Given the description of an element on the screen output the (x, y) to click on. 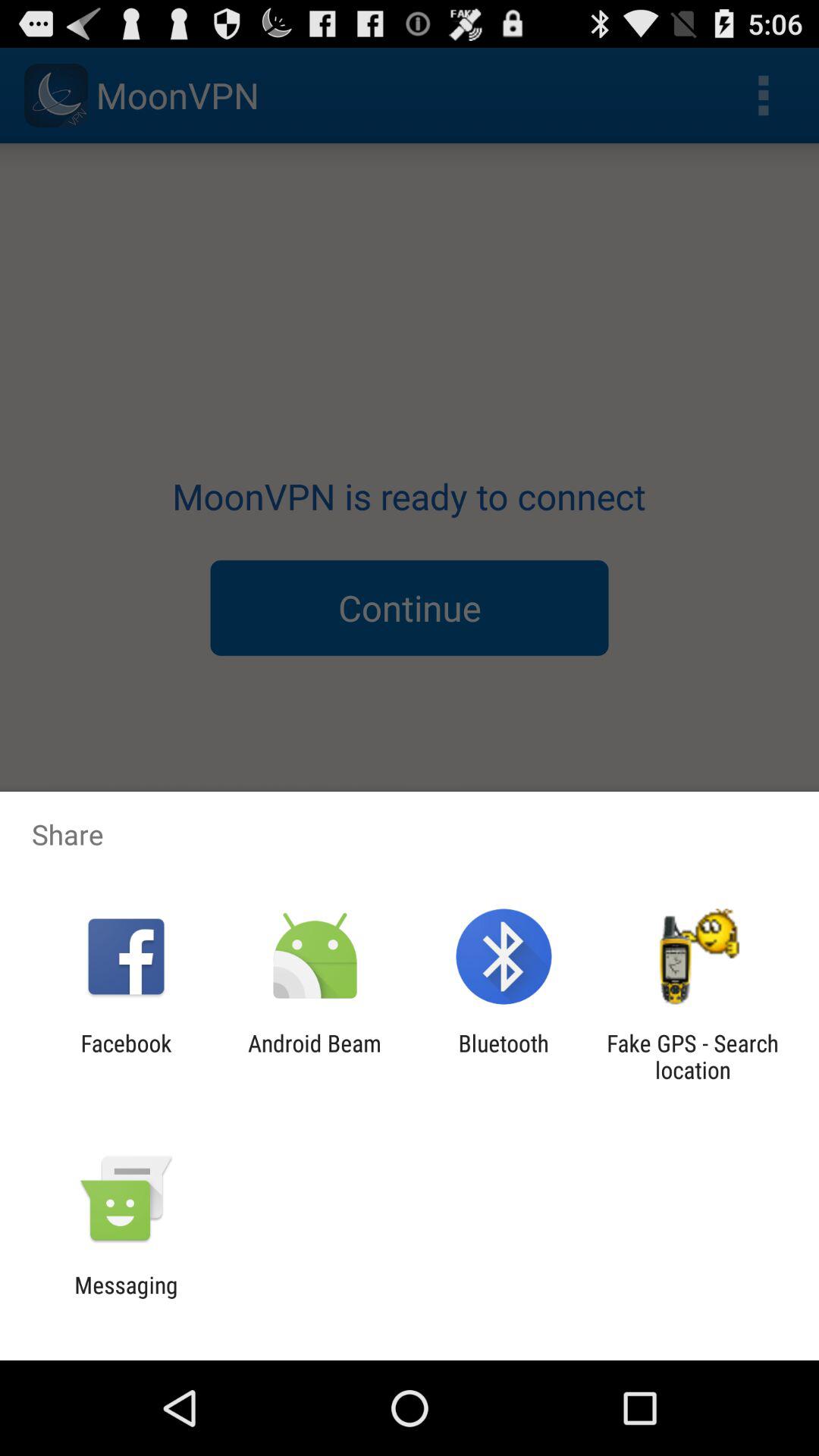
scroll until the fake gps search app (692, 1056)
